Given the description of an element on the screen output the (x, y) to click on. 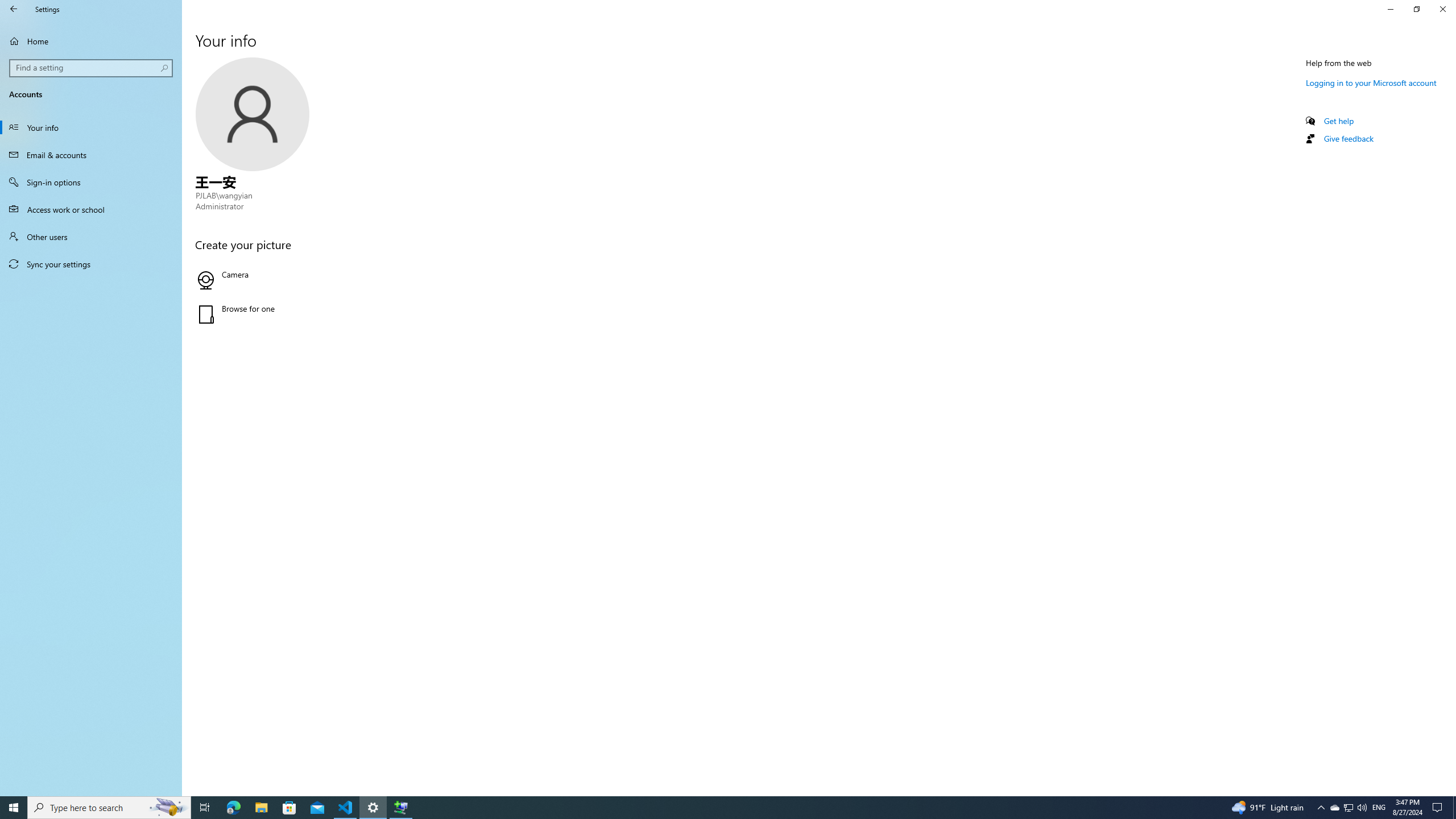
Extensible Wizards Host Process - 1 running window (400, 807)
Your info (91, 126)
Running applications (706, 807)
Close Settings (1442, 9)
Camera (319, 280)
Access work or school (91, 208)
Logging in to your Microsoft account (1371, 82)
